Given the description of an element on the screen output the (x, y) to click on. 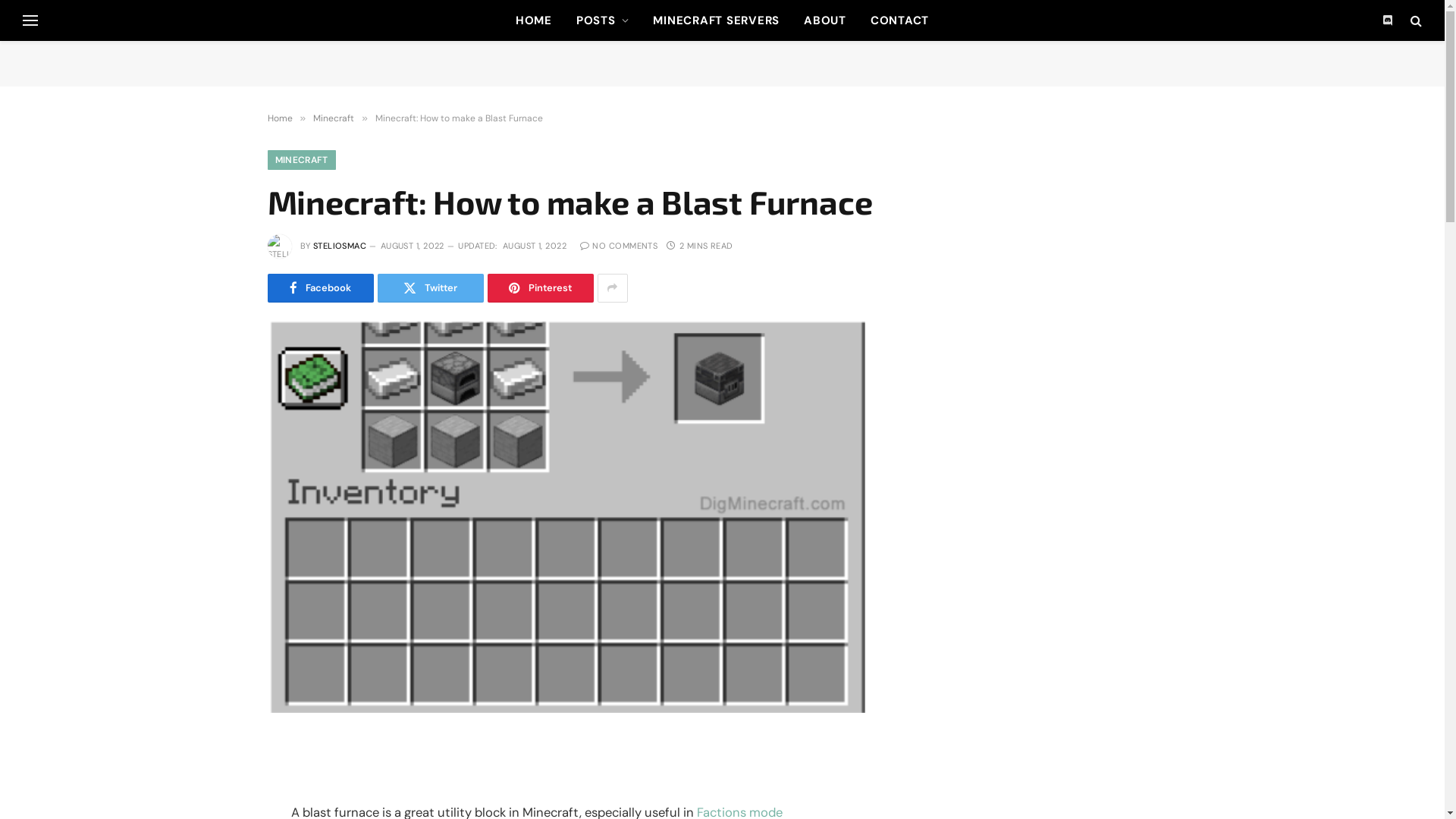
MINECRAFT SERVERS Element type: text (715, 20)
POSTS Element type: text (602, 20)
STELIOSMAC Element type: text (339, 245)
Twitter Element type: text (430, 287)
HOME Element type: text (533, 20)
Show More Social Sharing Element type: hover (612, 287)
MINECRAFT Element type: text (300, 159)
Minecraft Element type: text (333, 118)
Facebook Element type: text (319, 287)
NO COMMENTS Element type: text (618, 245)
Home Element type: text (278, 118)
Minecraft: How to make a Blast Furnace Element type: hover (565, 517)
Pinterest Element type: text (539, 287)
Discord Element type: text (1387, 20)
ABOUT Element type: text (824, 20)
Search Element type: hover (1414, 20)
CONTACT Element type: text (899, 20)
